Given the description of an element on the screen output the (x, y) to click on. 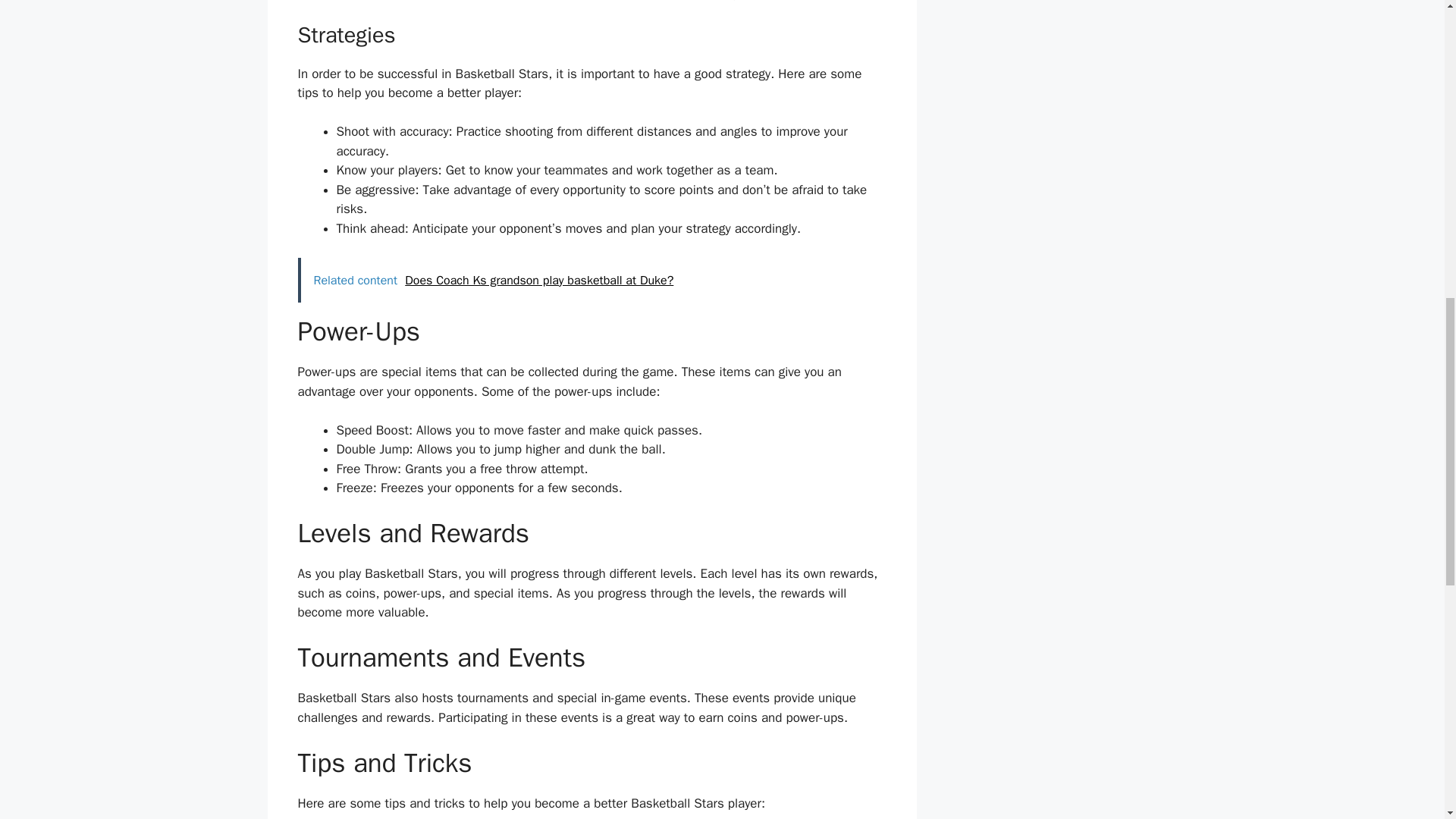
Scroll back to top (1406, 720)
